Given the description of an element on the screen output the (x, y) to click on. 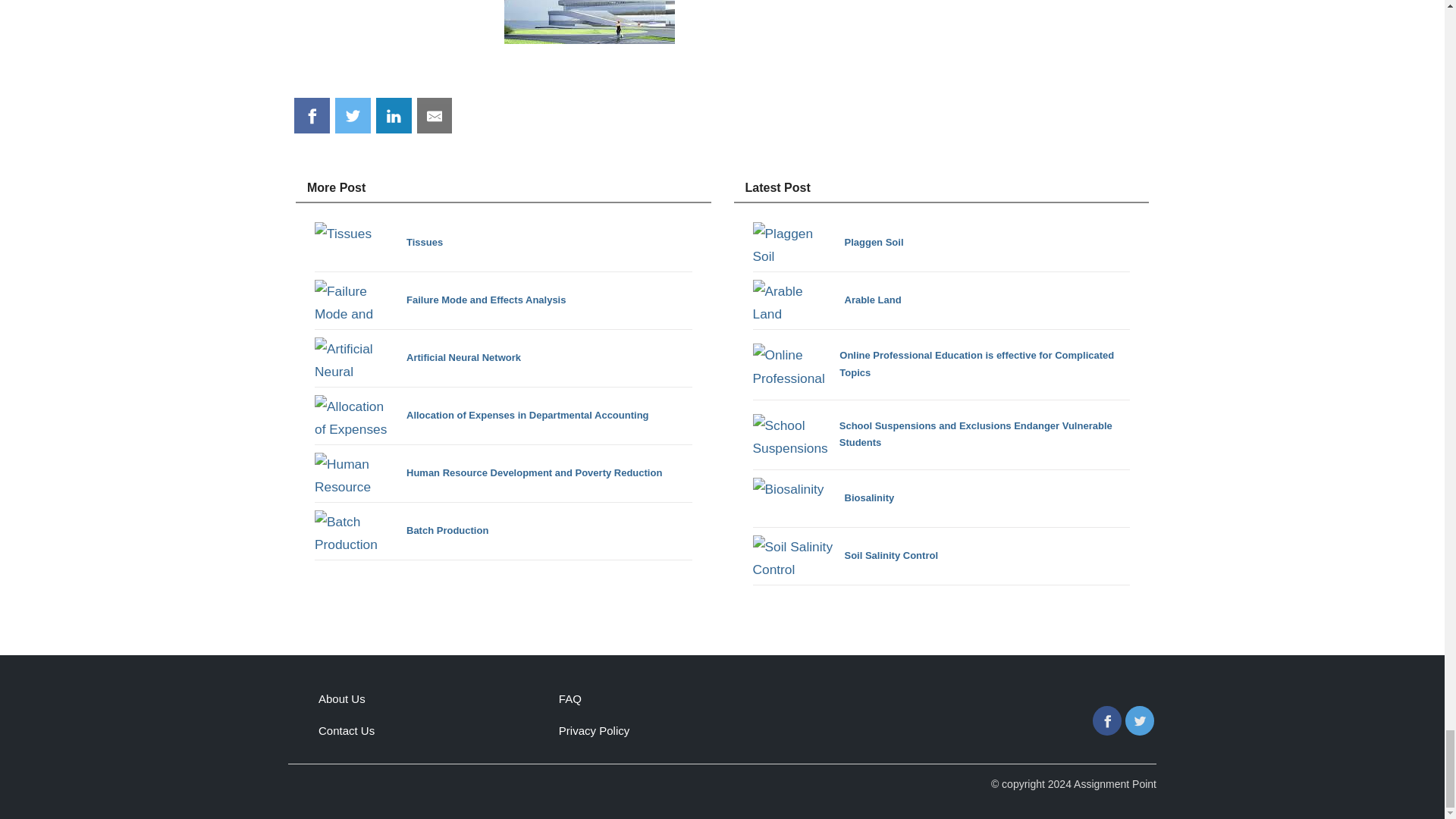
Batch Production (400, 531)
Privacy Policy (593, 730)
Share on LinkedIn (393, 115)
Share on Email (434, 115)
Privacy Policy (593, 730)
Twitter (1139, 720)
Human Resource Development and Poverty Reduction (488, 473)
Soil Salinity Control (844, 556)
Biosalinity (822, 498)
Arable Land (826, 300)
Share on Facebook (312, 115)
Tweet this ! (352, 115)
Contact Us (346, 730)
About Us (341, 698)
FAQ (569, 698)
